Given the description of an element on the screen output the (x, y) to click on. 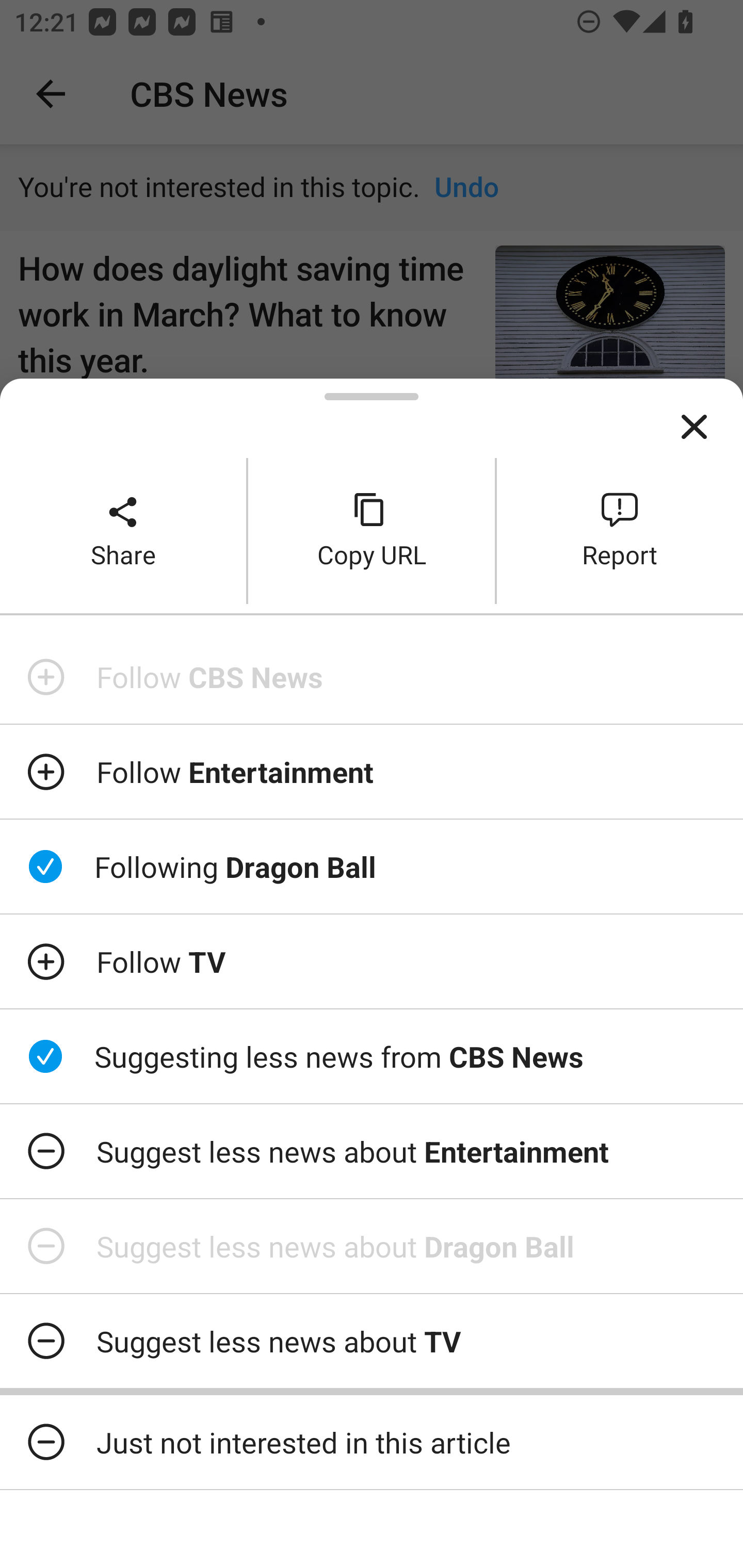
Close (694, 426)
Share (122, 530)
Copy URL (371, 530)
Report (620, 530)
Follow Entertainment (371, 771)
Following Dragon Ball  (371, 867)
Follow TV (371, 961)
Suggesting less news from CBS News (371, 1056)
Suggest less news about Entertainment (371, 1150)
Suggest less news about Dragon Ball  (371, 1246)
Suggest less news about TV (371, 1340)
Just not interested in this article (371, 1442)
